Given the description of an element on the screen output the (x, y) to click on. 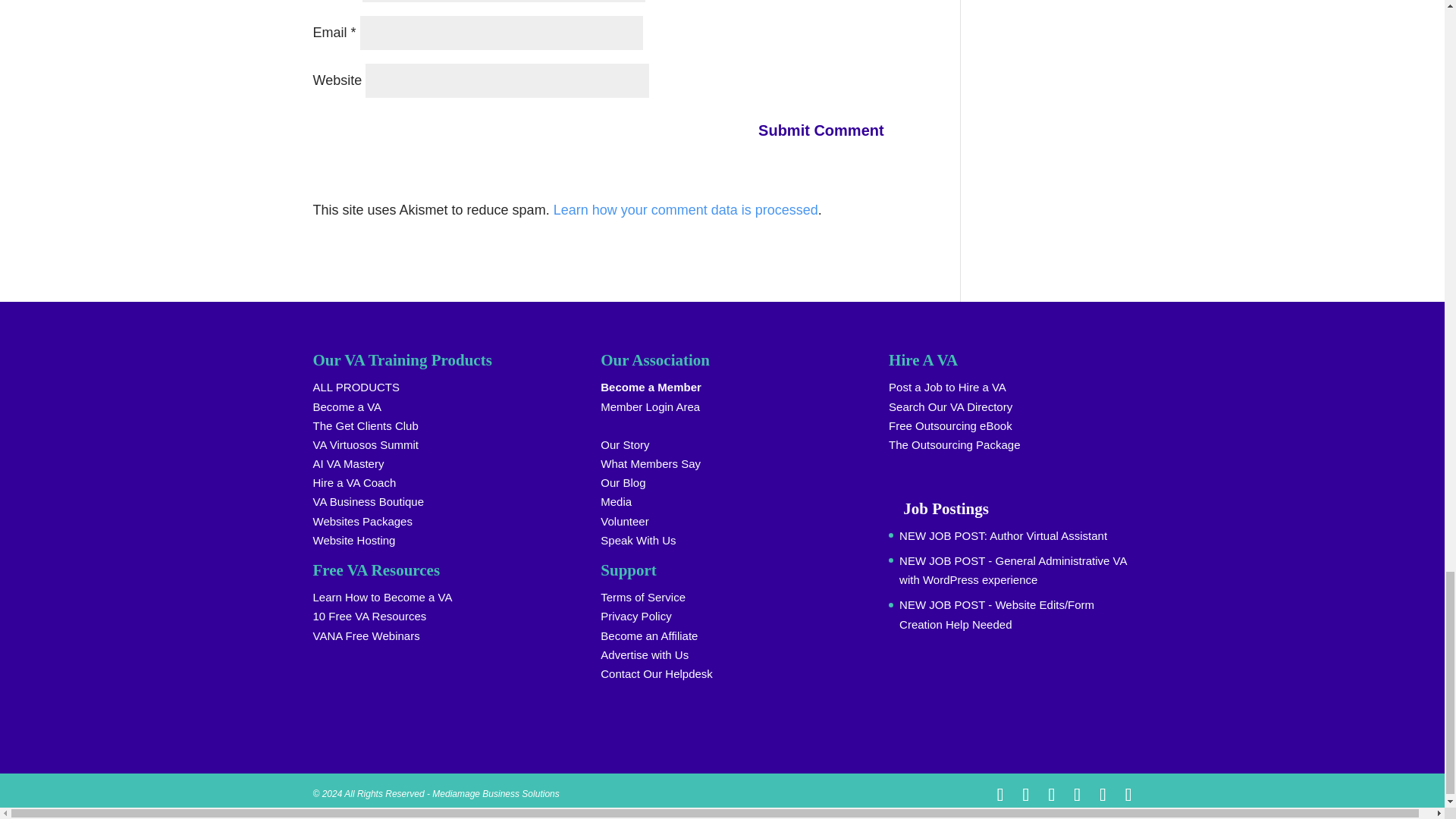
Learn how your comment data is processed (685, 209)
Submit Comment (830, 130)
Submit Comment (830, 130)
